Given the description of an element on the screen output the (x, y) to click on. 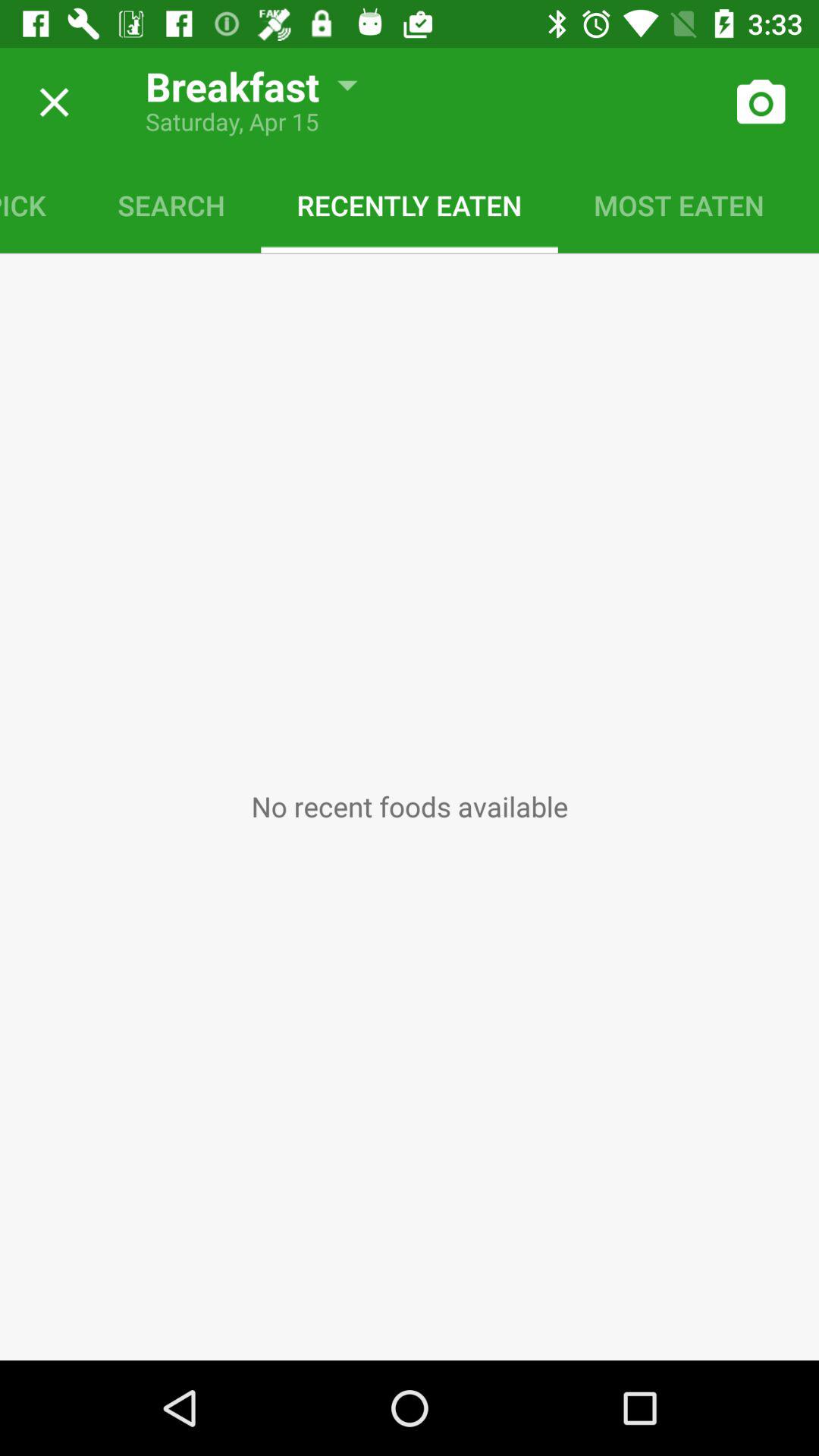
turn on saved meal icon (809, 205)
